Given the description of an element on the screen output the (x, y) to click on. 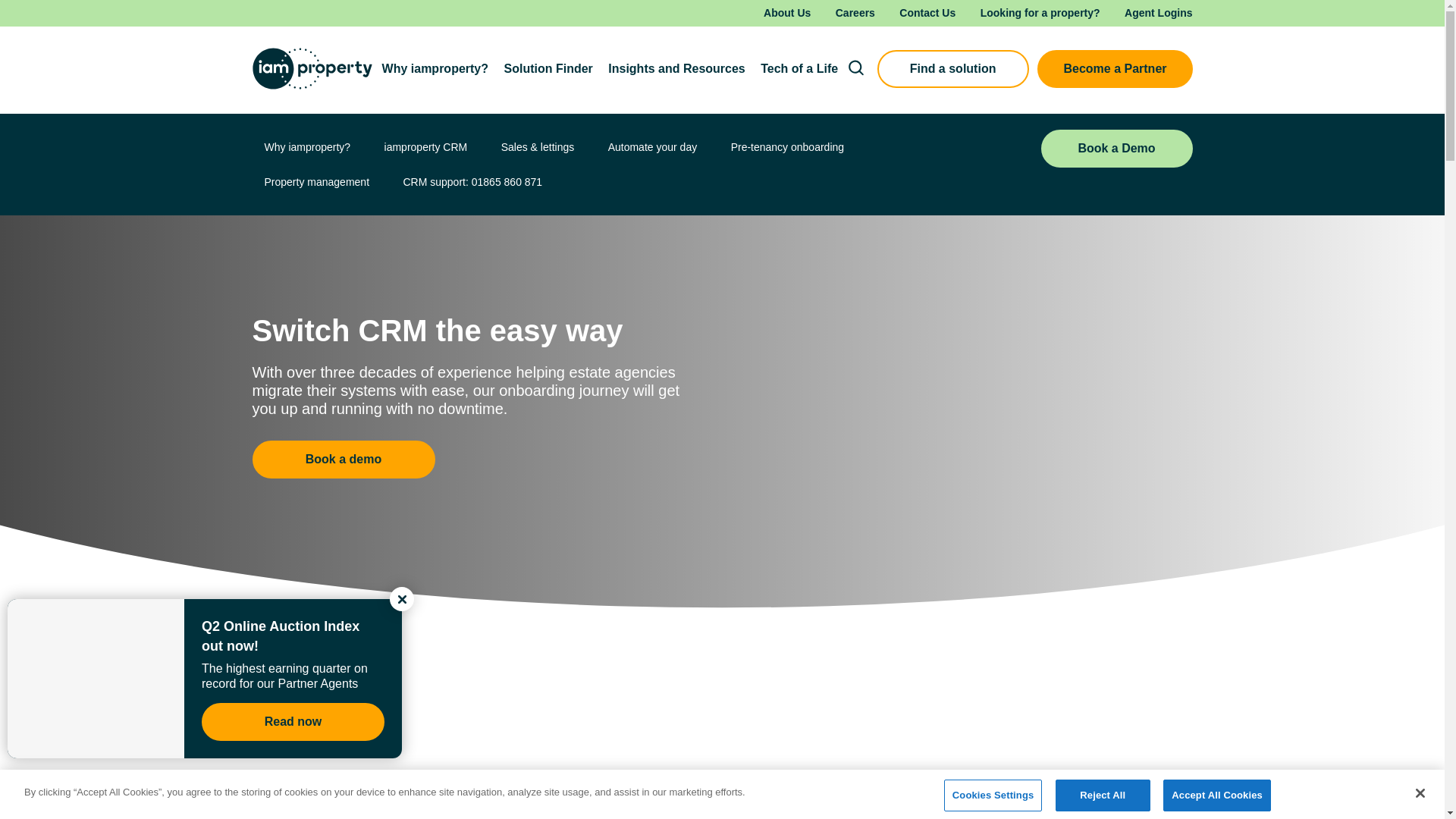
Find a solution (953, 68)
About Us (786, 13)
Why iamproperty? (434, 68)
Agent Logins (1158, 13)
Careers (855, 13)
Looking for a property? (1039, 13)
Contact Us (927, 13)
Become a Partner (1114, 68)
Solution Finder (547, 68)
